Given the description of an element on the screen output the (x, y) to click on. 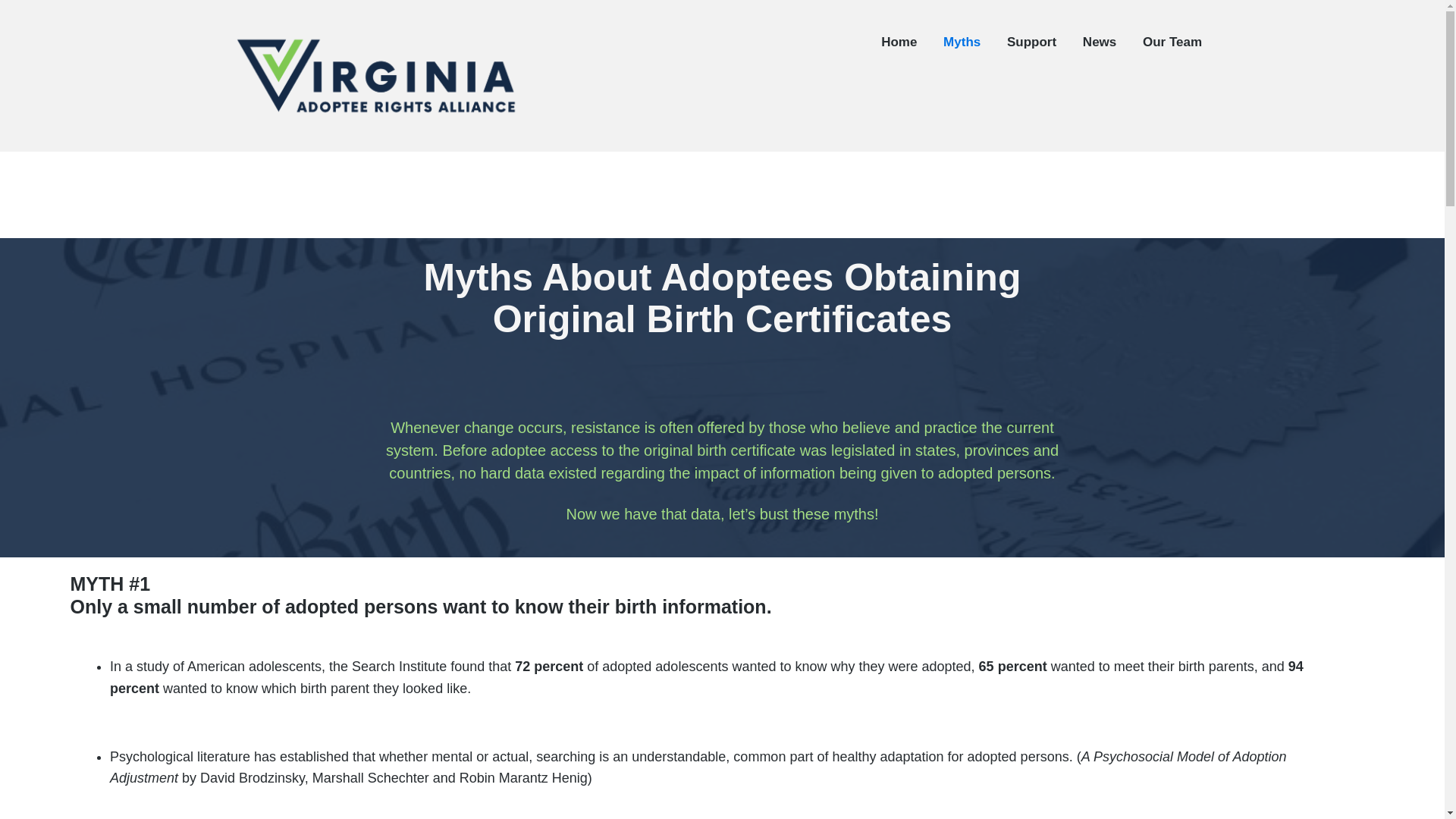
Home (898, 42)
Support (1032, 42)
Myths (961, 42)
Our Team (1172, 42)
News (1099, 42)
Virginia Adoptee Rights Alliance (341, 151)
